Given the description of an element on the screen output the (x, y) to click on. 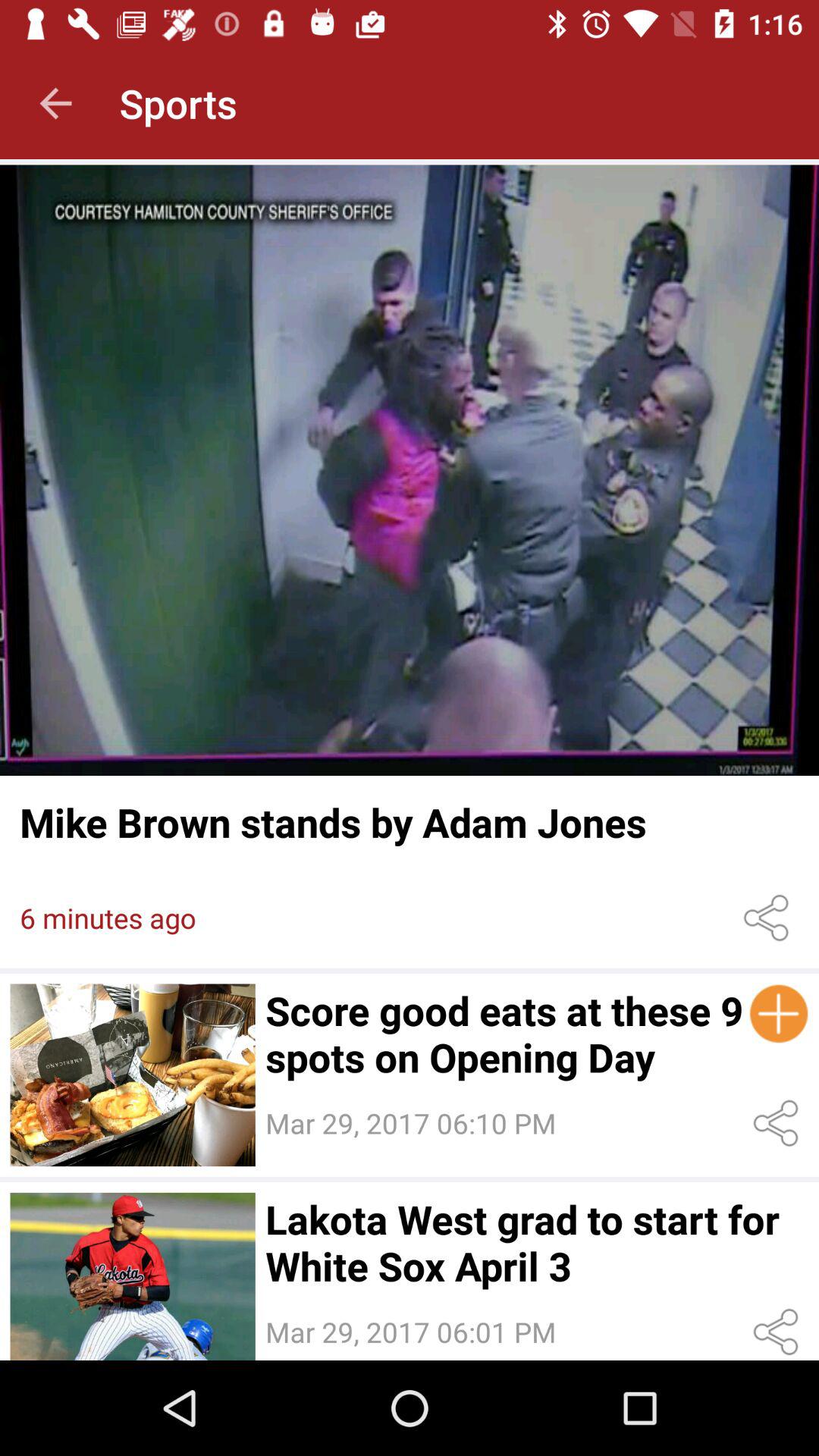
click to read article (409, 469)
